Given the description of an element on the screen output the (x, y) to click on. 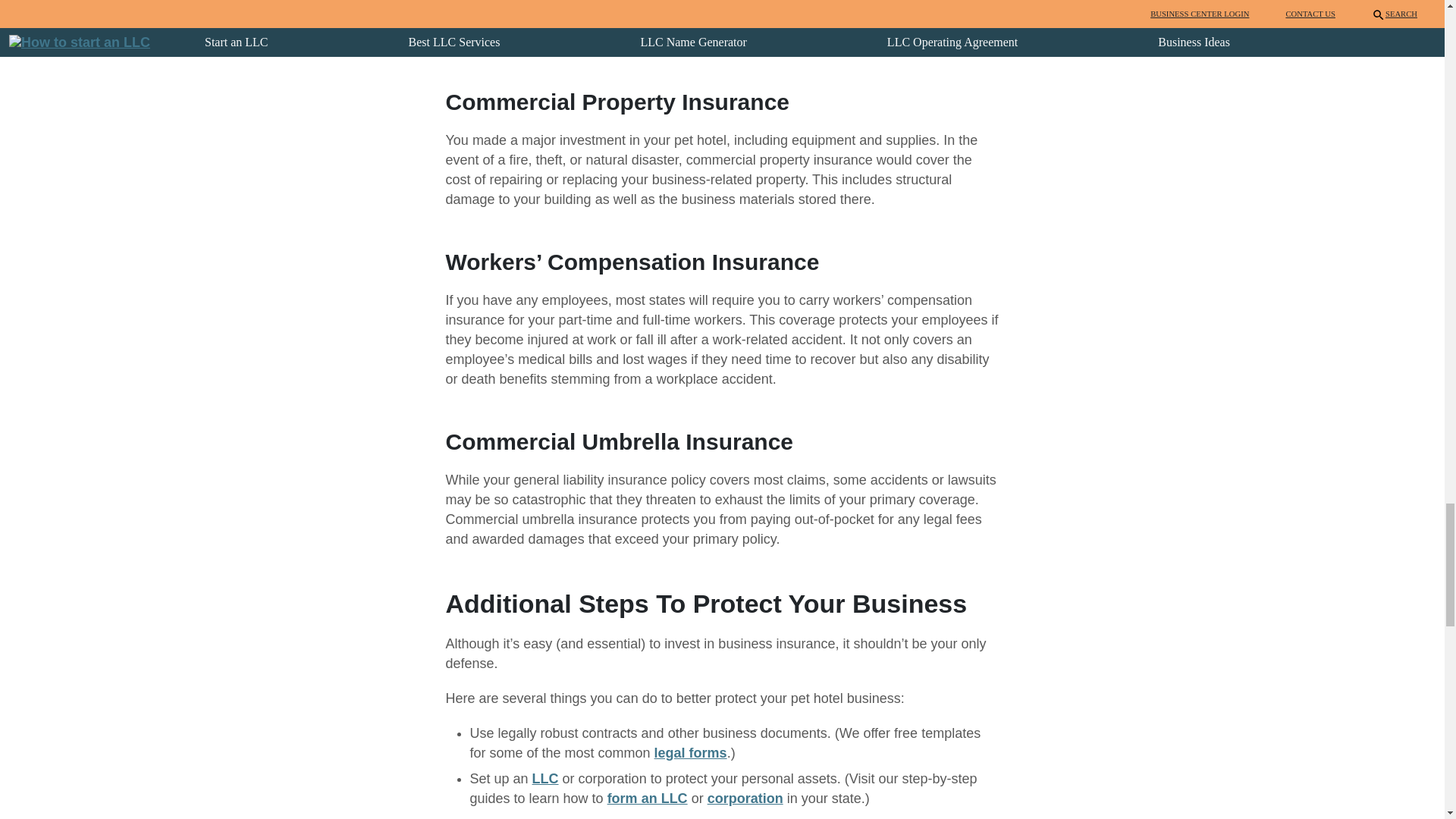
form an LLC (647, 798)
LLC (545, 778)
Link to How to Get a Business License page (655, 817)
Link to How to Form an LLC page (647, 798)
corporation (745, 798)
legal forms (689, 752)
Link to Free LLC Legal Forms page (689, 752)
business licensing (655, 817)
Link to How to Start a Corporation page (745, 798)
Link to What Is an LLC? page (545, 778)
